Given the description of an element on the screen output the (x, y) to click on. 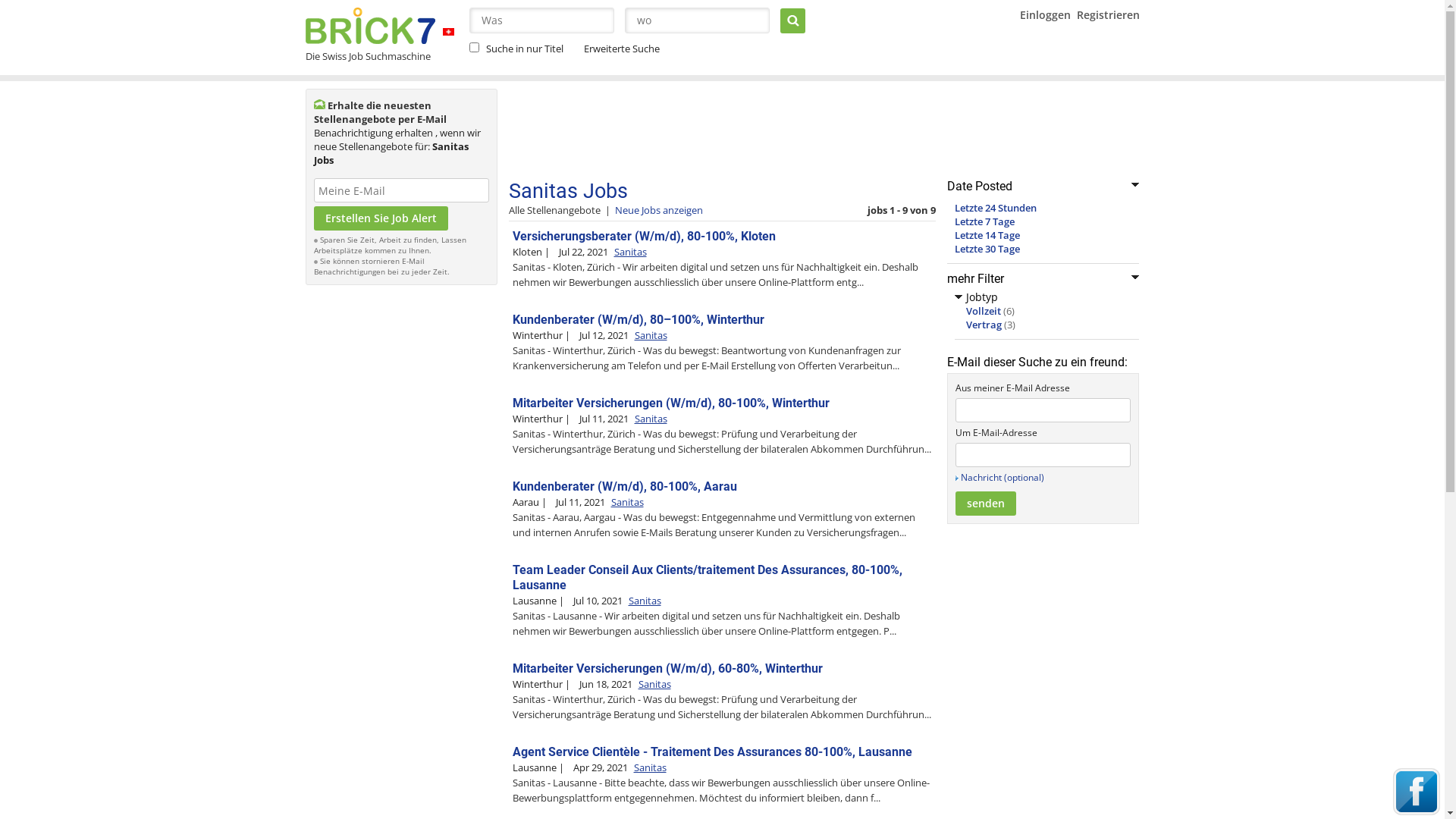
Registrieren Element type: text (1107, 14)
Einloggen Element type: text (1044, 14)
Advertisement Element type: hover (400, 519)
 Erweiterte Suche Element type: text (619, 48)
Letzte 30 Tage Element type: text (986, 248)
Versicherungsberater (W/m/d), 80-100%, Kloten Element type: text (643, 236)
Sanitas Element type: text (627, 501)
Vollzeit Element type: text (983, 310)
Letzte 7 Tage Element type: text (983, 221)
Sanitas Element type: text (643, 600)
Sanitas Element type: text (630, 251)
senden Element type: text (985, 503)
Brick7 Element type: text (369, 25)
Letzte 24 Stunden Element type: text (994, 207)
Brick7 Element type: hover (448, 31)
Mitarbeiter Versicherungen (W/m/d), 60-80%, Winterthur Element type: text (667, 668)
Erstellen Sie Job Alert Element type: text (380, 218)
Sanitas Element type: text (649, 335)
Sanitas Element type: text (649, 767)
Letzte 14 Tage Element type: text (986, 234)
Suche Element type: text (791, 20)
Nachricht (optional) Element type: text (1001, 476)
Sanitas Element type: text (654, 683)
Neue Jobs anzeigen Element type: text (658, 209)
Vertrag Element type: text (983, 324)
Sanitas Element type: text (649, 418)
Mitarbeiter Versicherungen (W/m/d), 80-100%, Winterthur Element type: text (670, 402)
Kundenberater (W/m/d), 80-100%, Aarau Element type: text (624, 486)
Advertisement Element type: hover (784, 130)
